Given the description of an element on the screen output the (x, y) to click on. 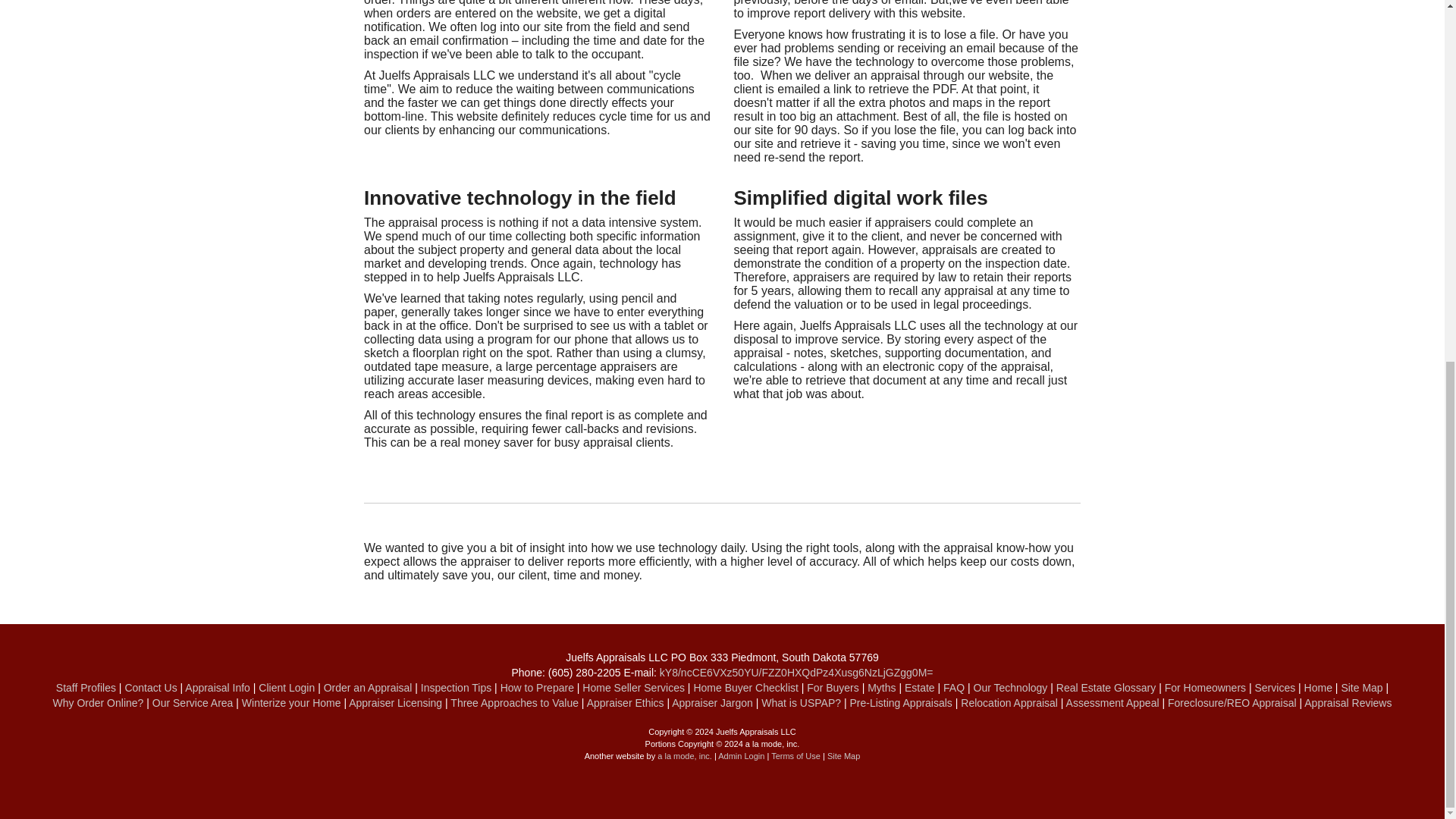
Home Buyer Checklist (745, 687)
Client Login (286, 687)
Estate (919, 687)
Our Technology (1011, 687)
Why Order Online? (98, 702)
Our Service Area (192, 702)
Services (1274, 687)
How to Prepare (536, 687)
Home (1318, 687)
FAQ (953, 687)
